Given the description of an element on the screen output the (x, y) to click on. 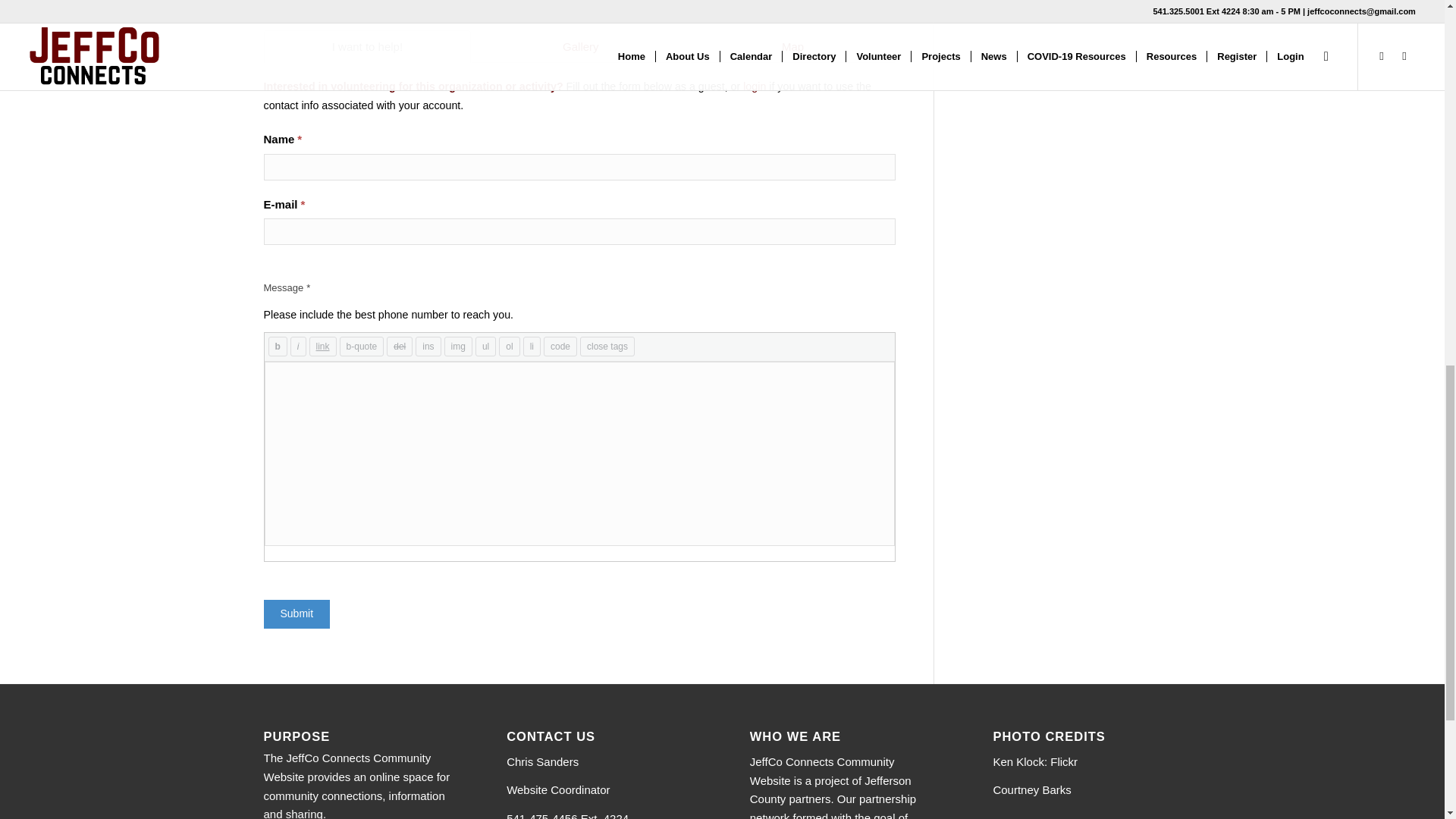
del (399, 346)
b (276, 346)
ins (427, 346)
b-quote (361, 346)
i (297, 346)
li (531, 346)
Close all open tags (606, 346)
ul (486, 346)
link (322, 346)
close tags (606, 346)
img (457, 346)
code (559, 346)
ol (509, 346)
Submit (296, 613)
